Given the description of an element on the screen output the (x, y) to click on. 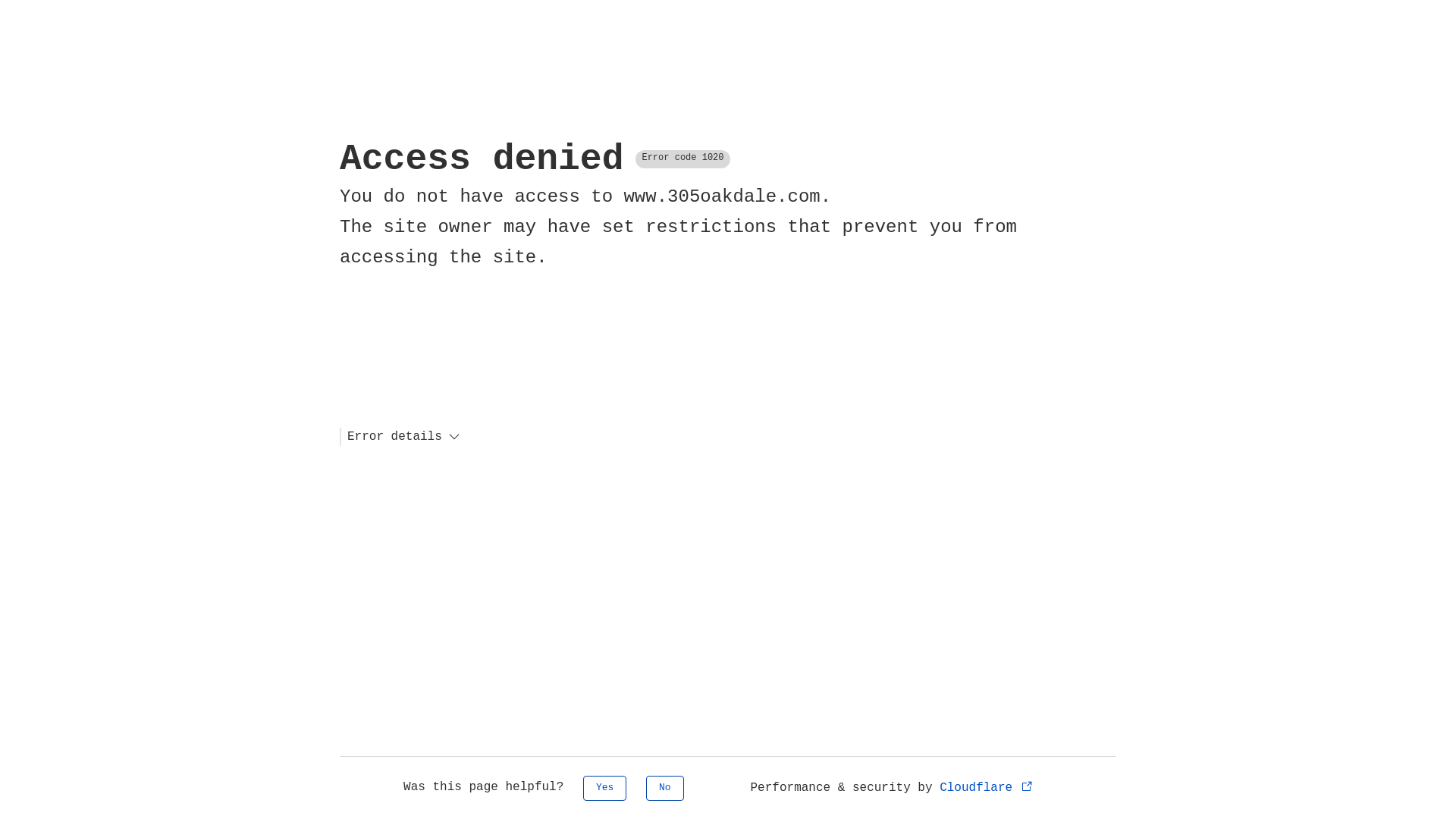
No Element type: text (665, 787)
Yes Element type: text (604, 787)
Cloudflare Element type: text (986, 787)
Opens in new tab Element type: hover (1027, 785)
